Given the description of an element on the screen output the (x, y) to click on. 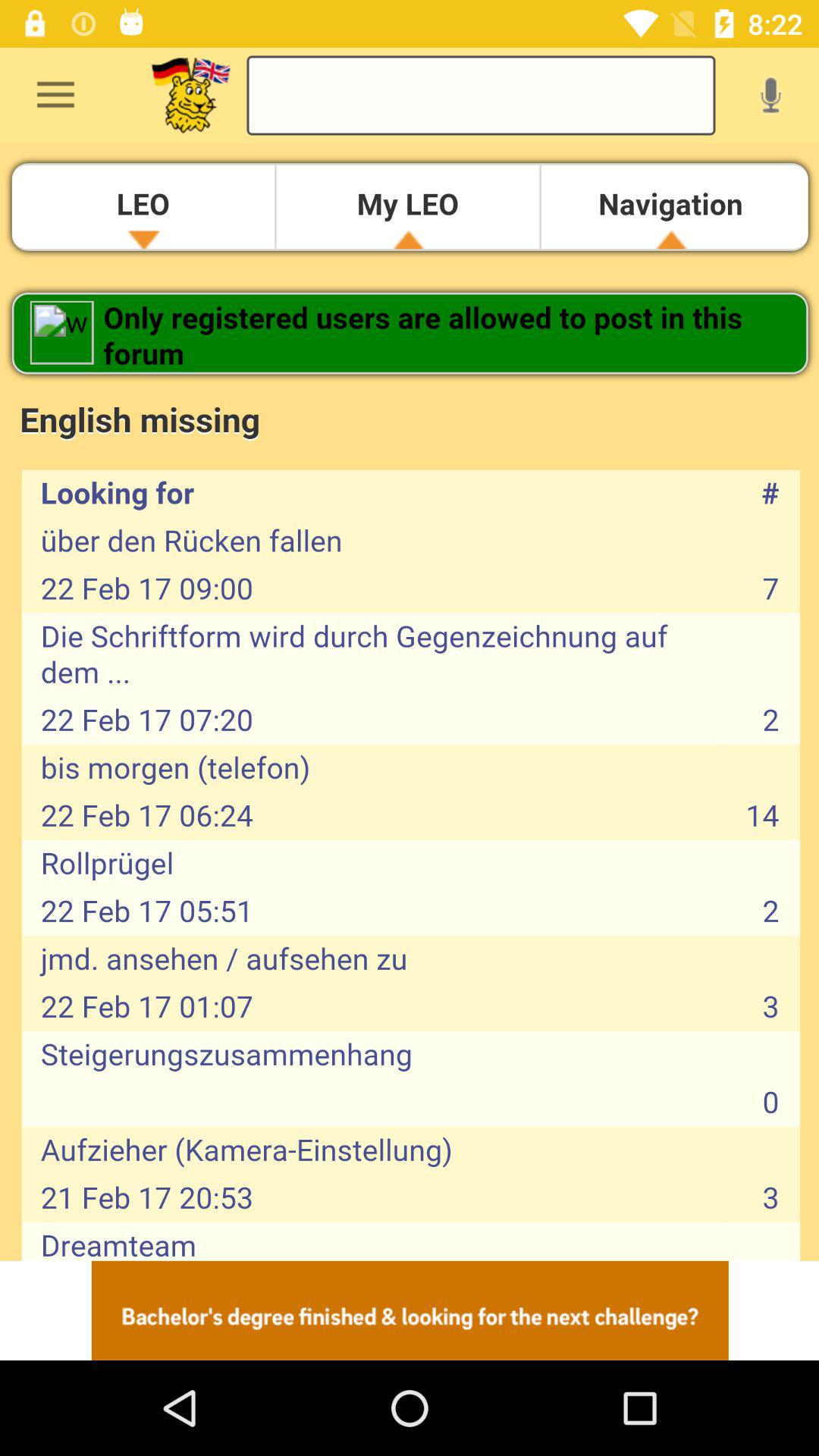
go to record (770, 94)
